Given the description of an element on the screen output the (x, y) to click on. 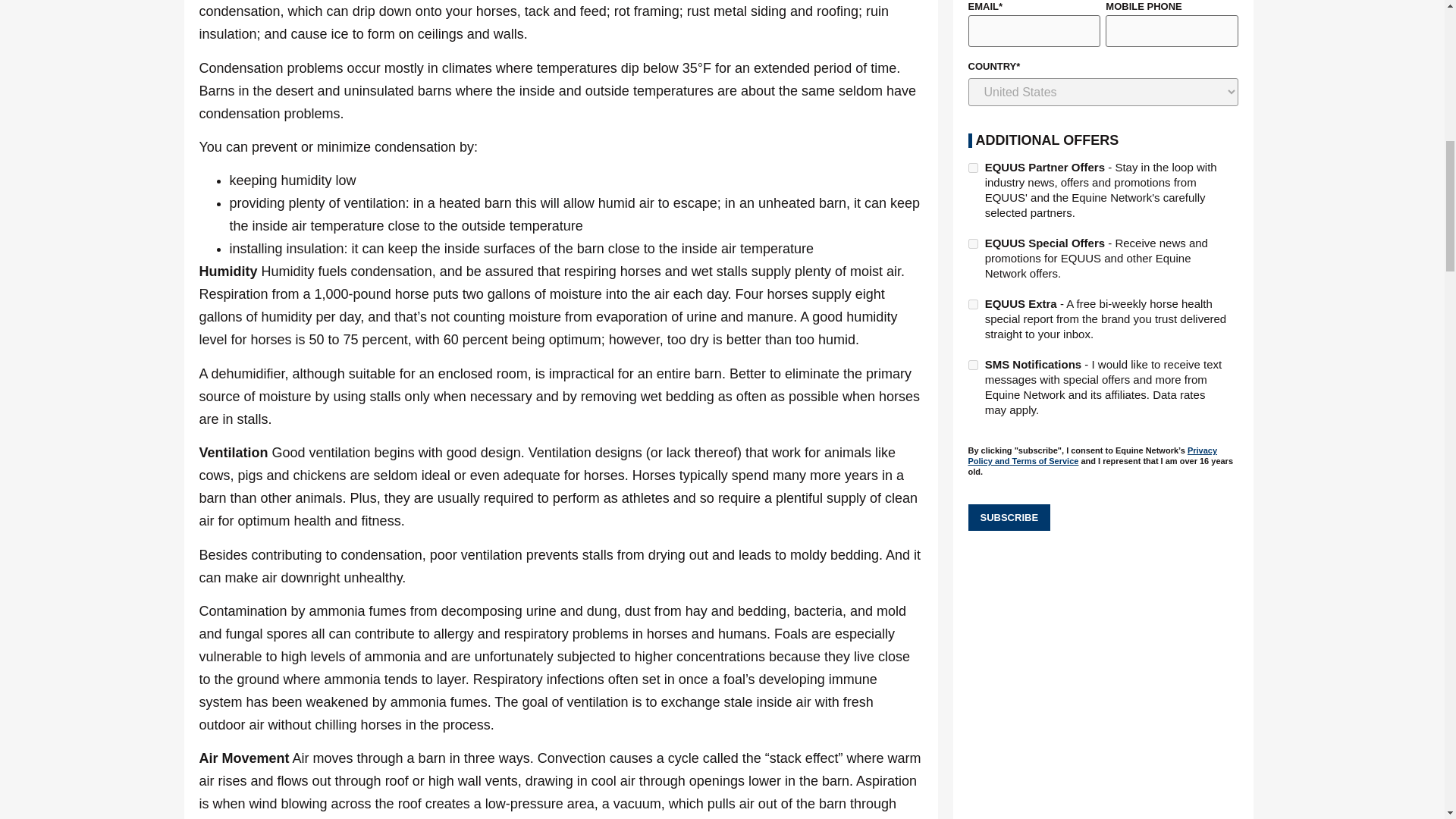
Subscribe (1008, 517)
591f5baa-e9c3-40bf-bf02-f5923680caa3 (972, 243)
SMS Notifications (972, 365)
0cd2e389-c43e-4146-b3bb-59ab437fd8f4 (972, 304)
52f26a8f-e5be-4237-a9cb-227d8912a511 (972, 167)
